Given the description of an element on the screen output the (x, y) to click on. 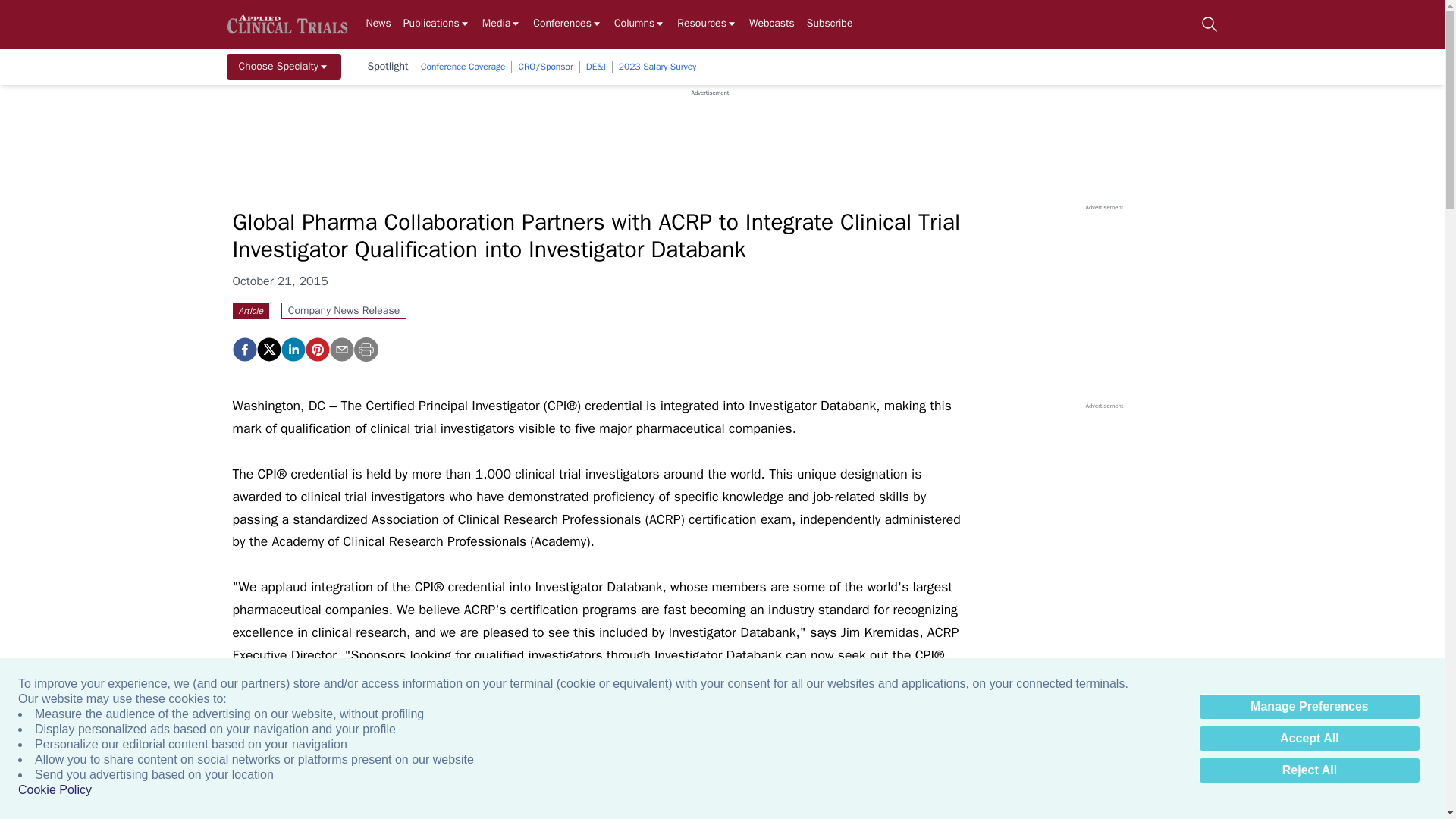
Publications (436, 23)
Reject All (1309, 769)
Columns (639, 23)
Media (501, 23)
Cookie Policy (54, 789)
Accept All (1309, 738)
Manage Preferences (1309, 706)
3rd party ad content (709, 131)
Subscribe (829, 23)
